Given the description of an element on the screen output the (x, y) to click on. 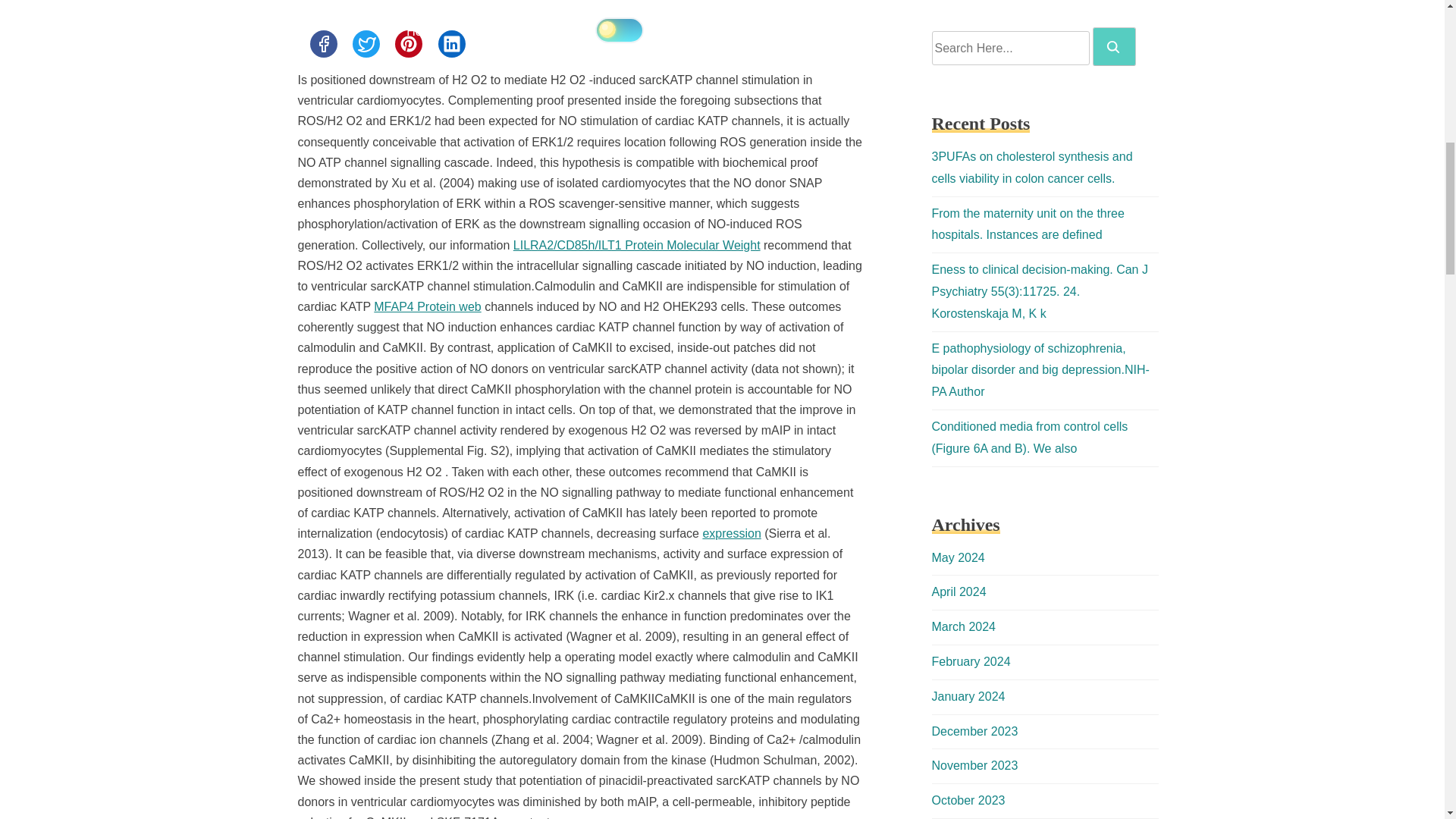
expression (730, 533)
Share this post on Linkedin (451, 43)
MFAP4 Protein web (427, 306)
Search (1113, 46)
Share this post on Twitter (366, 43)
Search (1114, 46)
Share this post on Facebook (322, 43)
Share this post on Pinterest (408, 43)
